Given the description of an element on the screen output the (x, y) to click on. 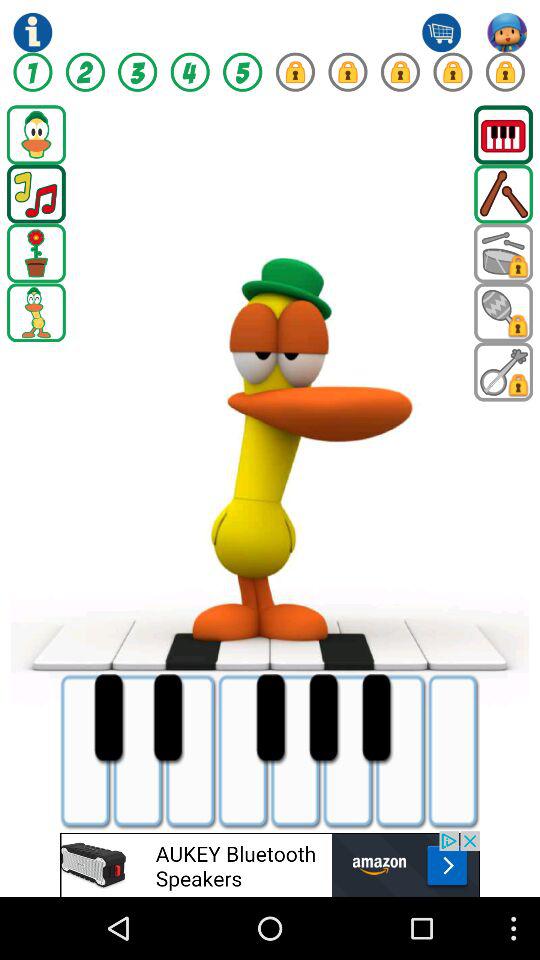
fourth option (190, 71)
